Given the description of an element on the screen output the (x, y) to click on. 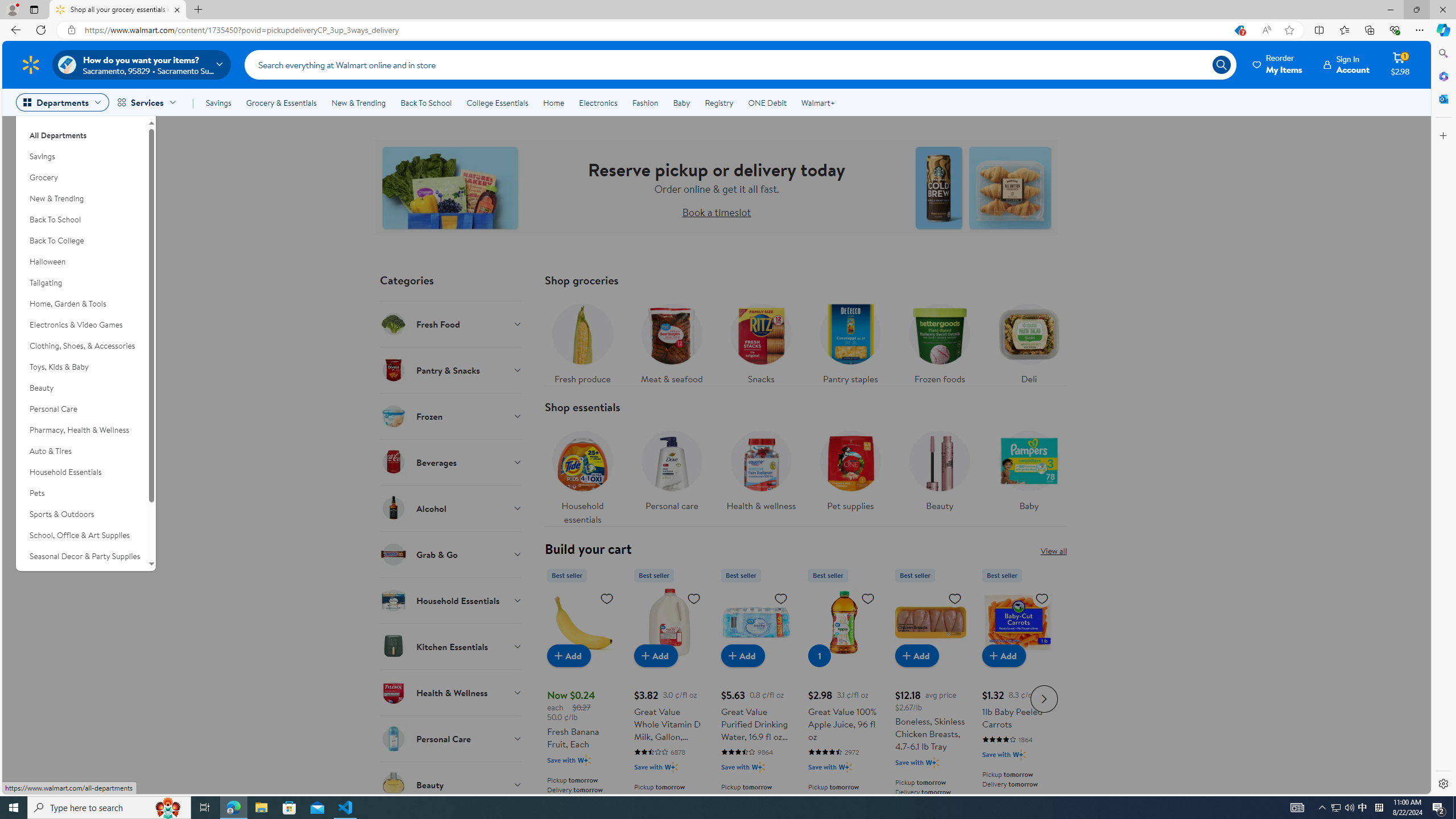
New & Trending (81, 198)
Deli (1028, 340)
Frozen foods (938, 340)
Pantry staples (850, 340)
Add to cart - Fresh Banana Fruit, Each (569, 655)
Grocery & Essentials (280, 102)
All Departments (81, 130)
Boneless, Skinless Chicken Breasts, 4.7-6.1 lb Tray (930, 621)
College Essentials (496, 102)
1 in cart, Great Value 100% Apple Juice, 96 fl oz (819, 655)
